Given the description of an element on the screen output the (x, y) to click on. 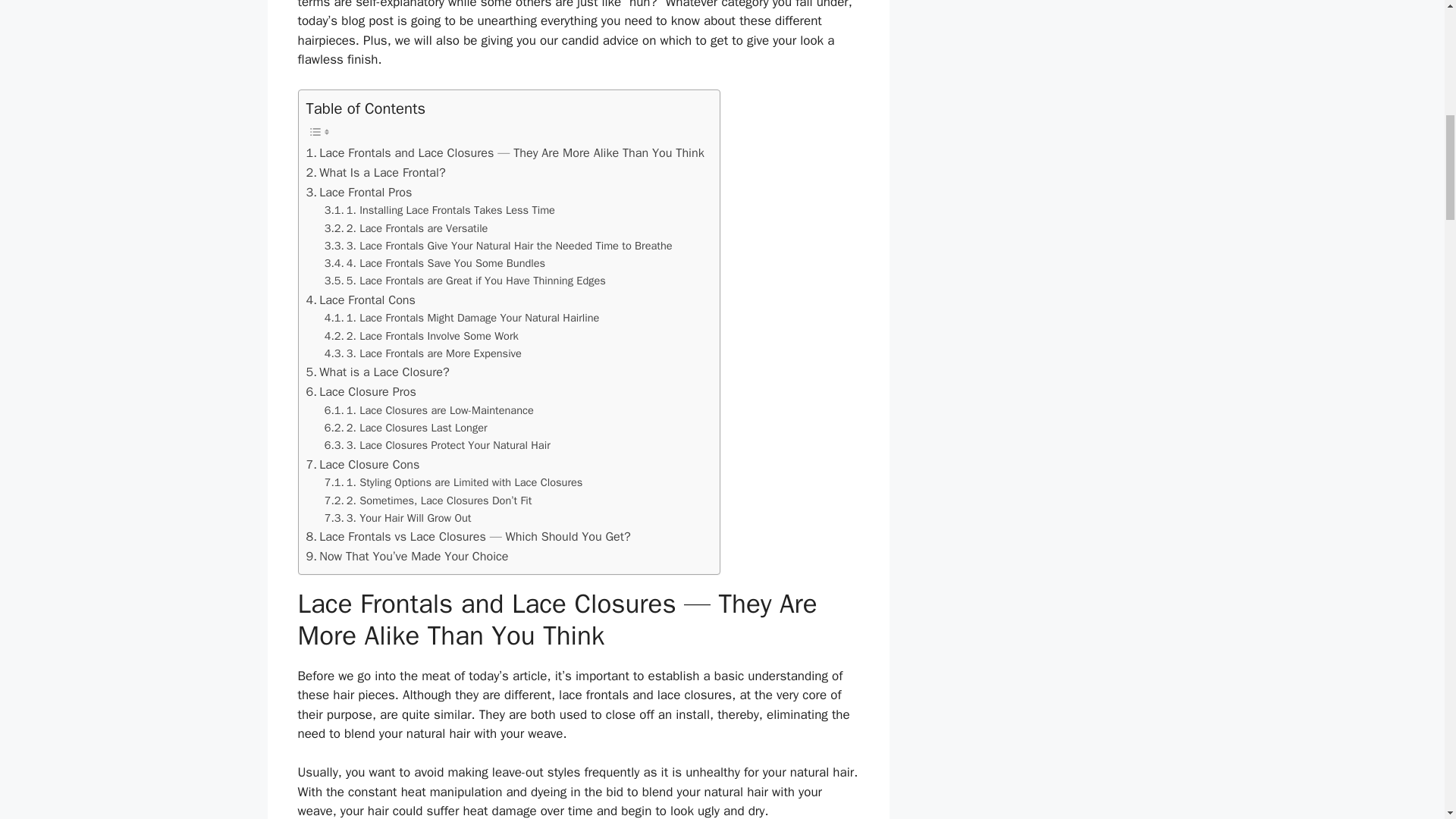
What Is a Lace Frontal? (375, 172)
2. Lace Frontals Involve Some Work (421, 335)
What Is a Lace Frontal? (375, 172)
5. Lace Frontals are Great if You Have Thinning Edges (464, 280)
Lace Closure Pros (360, 392)
1. Lace Closures are Low-Maintenance (429, 410)
Lace Frontal Pros (358, 191)
1. Installing Lace Frontals Takes Less Time (439, 210)
2. Lace Frontals Involve Some Work (421, 335)
Lace Frontal Cons (359, 300)
Lace Closure Pros (360, 392)
1. Lace Closures are Low-Maintenance (429, 410)
Lace Frontal Pros (358, 191)
What is a Lace Closure? (377, 372)
